Given the description of an element on the screen output the (x, y) to click on. 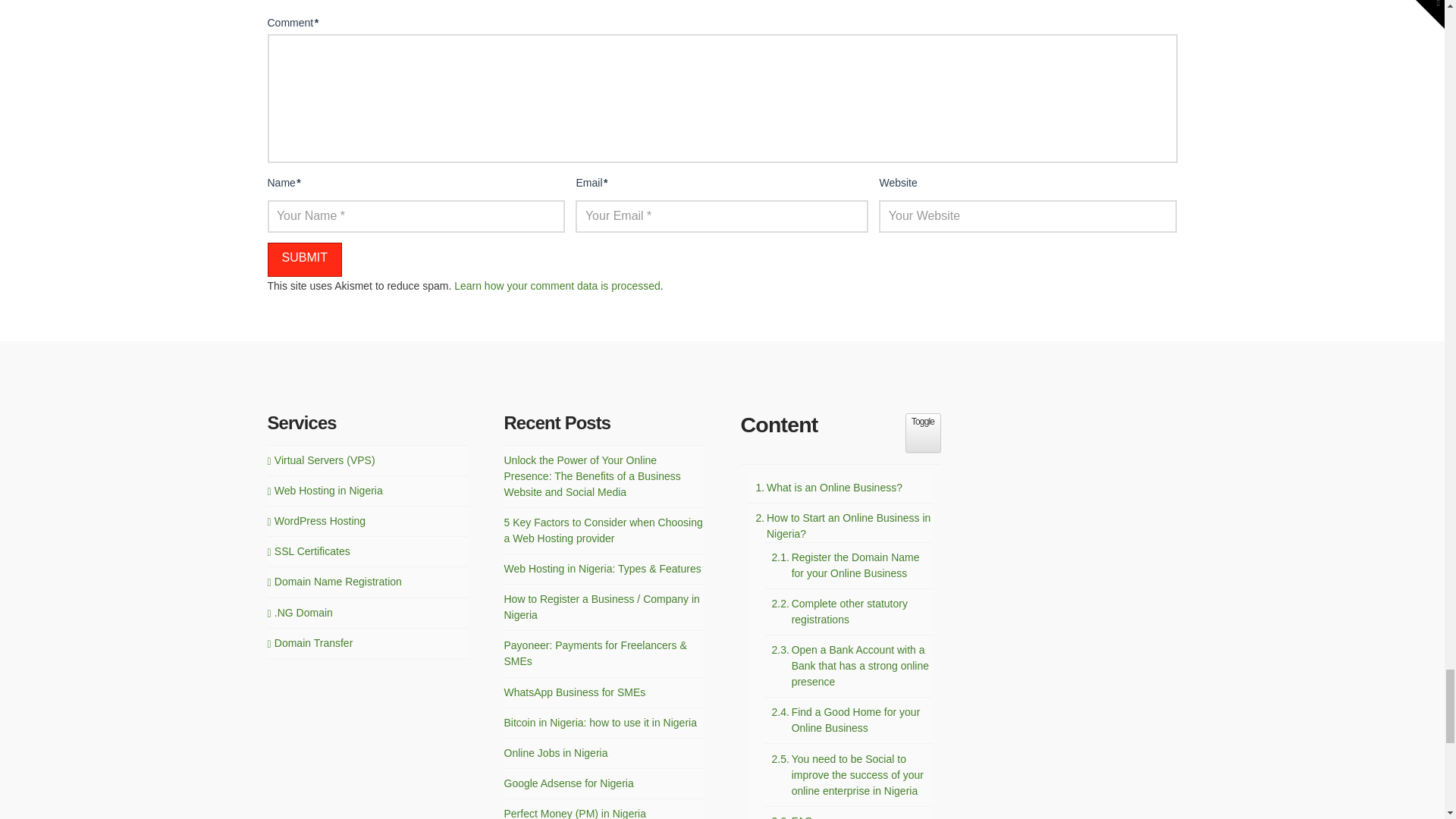
Submit (303, 259)
